Given the description of an element on the screen output the (x, y) to click on. 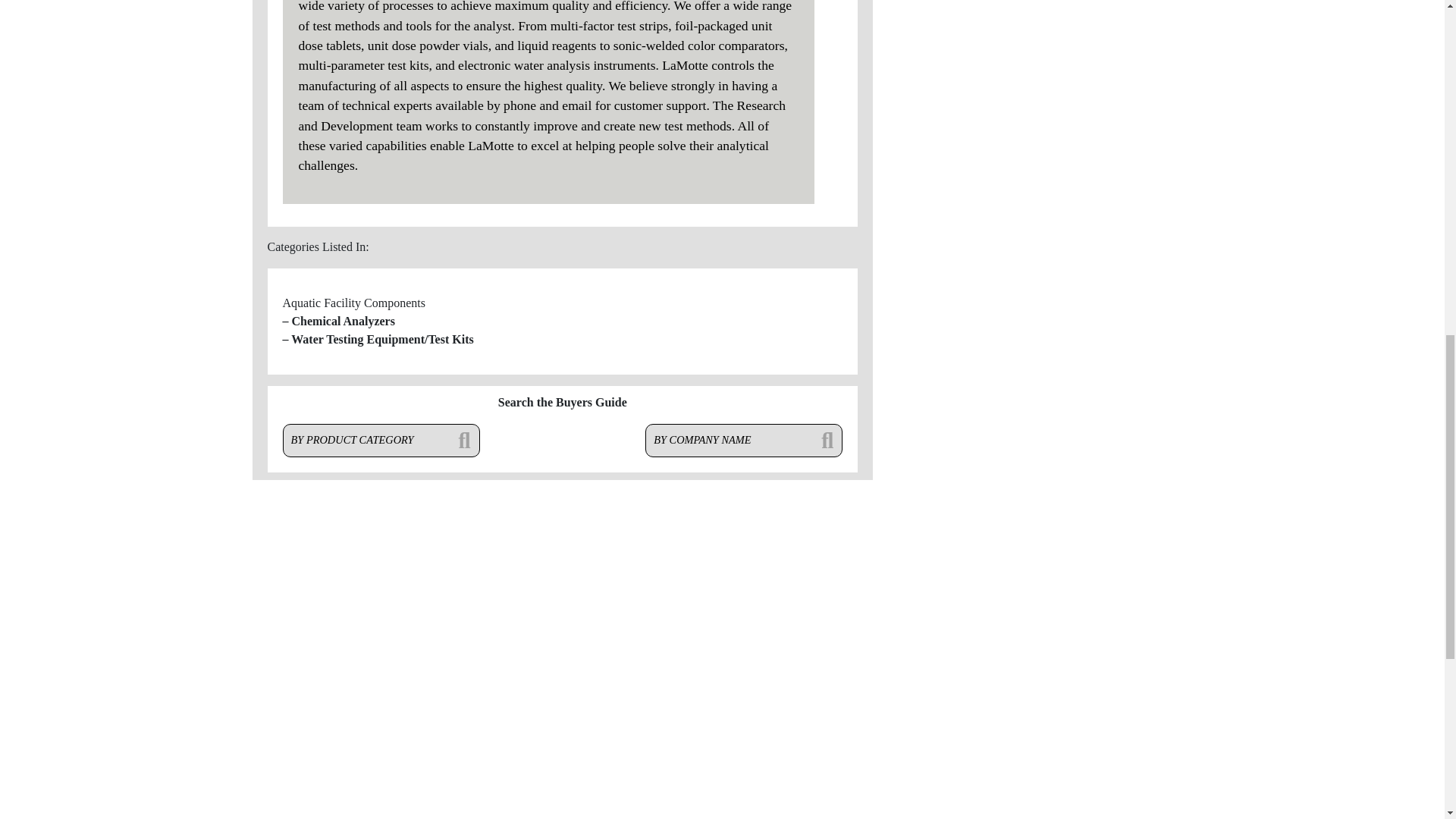
3rd party ad content (1034, 70)
3rd party ad content (1034, 248)
